Given the description of an element on the screen output the (x, y) to click on. 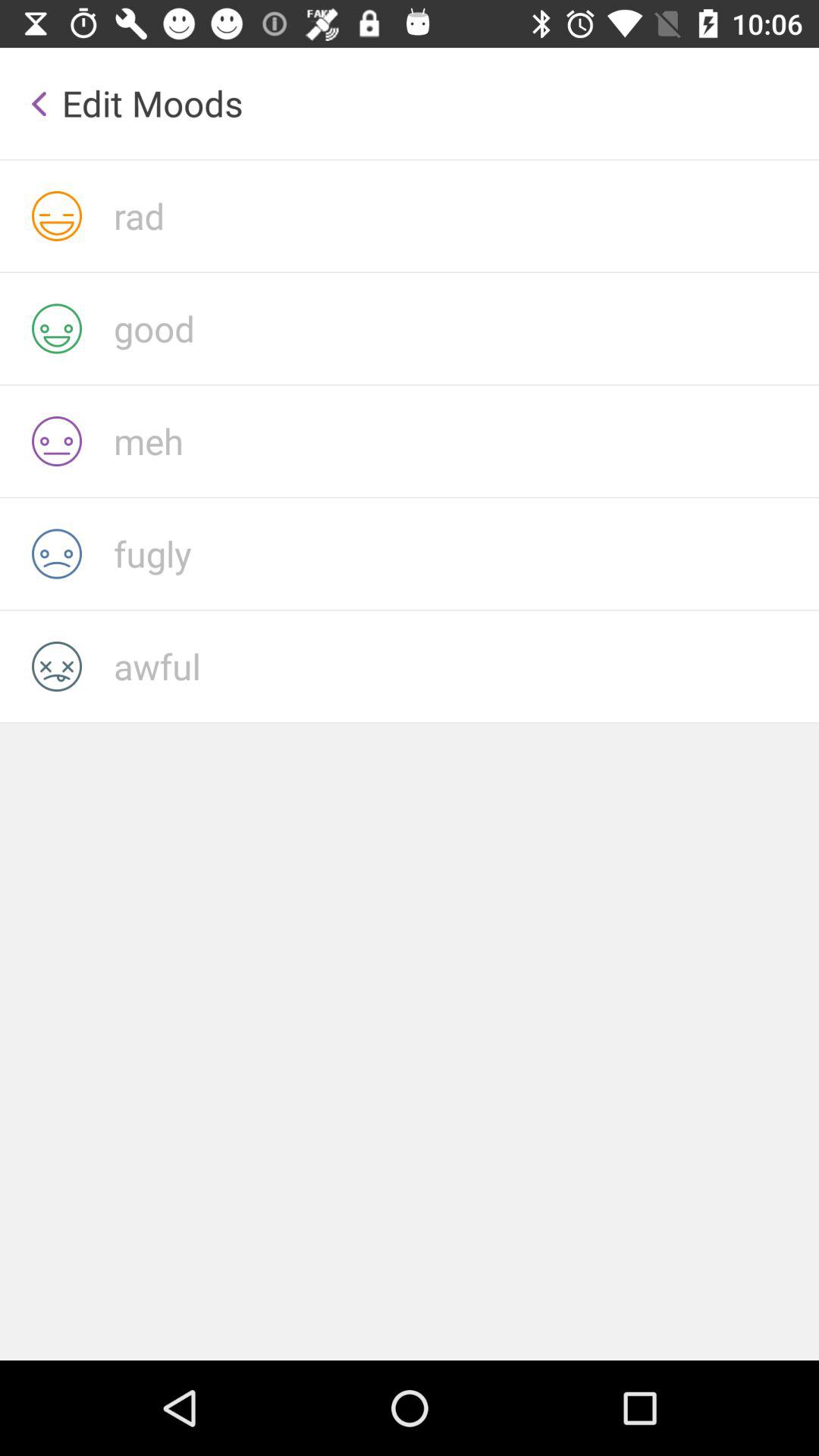
toggle good as your mood (466, 328)
